Given the description of an element on the screen output the (x, y) to click on. 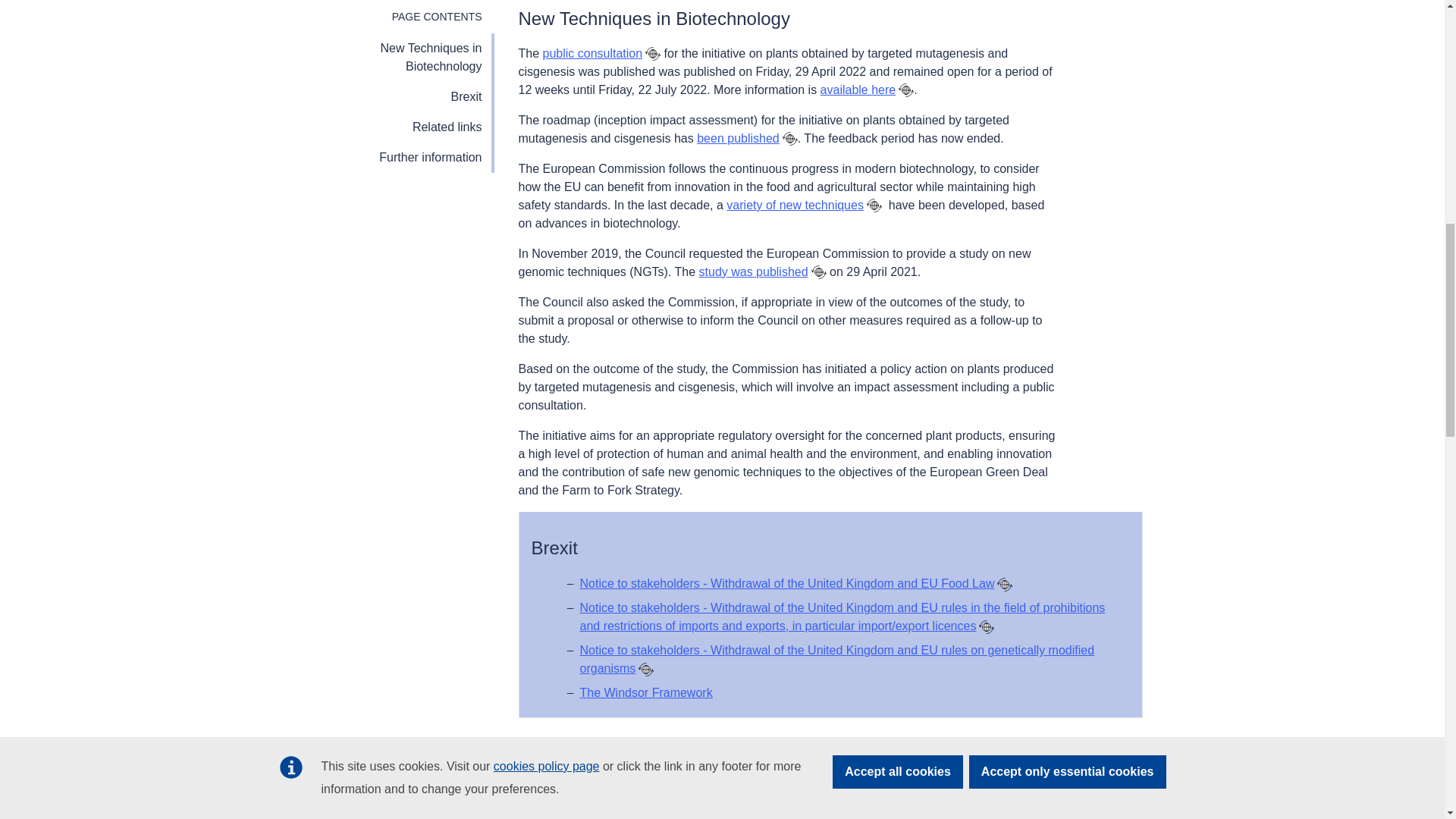
Search for available translations (647, 800)
Search for available translations (646, 669)
Search for available translations (874, 205)
Search for available translations (653, 53)
Search for available translations (1004, 584)
Search for available translations (818, 272)
Search for available translations (790, 138)
Search for available translations (986, 626)
Search for available translations (906, 89)
